Given the description of an element on the screen output the (x, y) to click on. 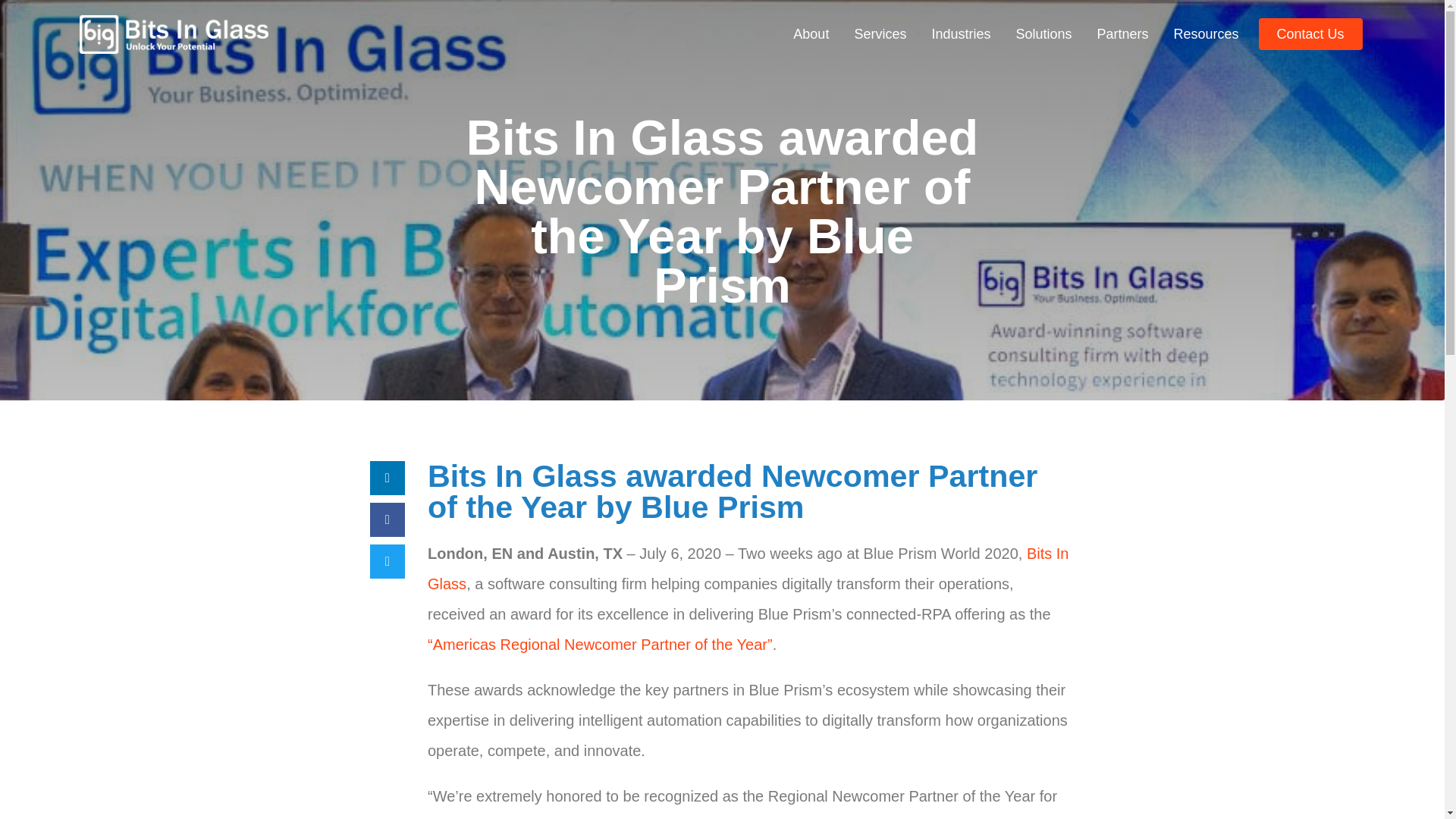
Bits In Glass (748, 568)
Solutions (1042, 33)
Industries (960, 33)
About (810, 33)
Contact Us (1310, 33)
Services (879, 33)
Resources (1206, 33)
Partners (1122, 33)
